Given the description of an element on the screen output the (x, y) to click on. 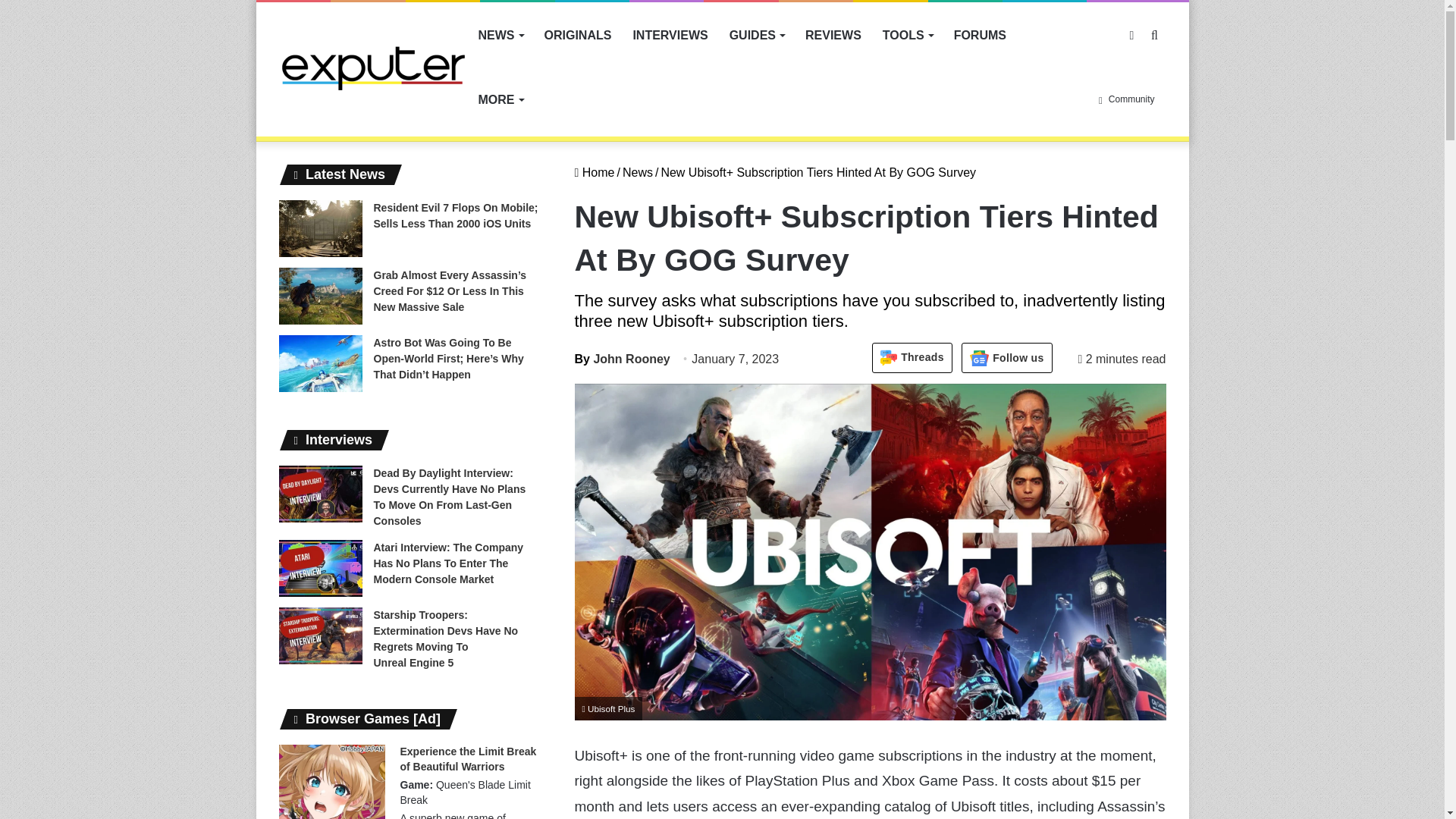
FORUMS (979, 35)
INTERVIEWS (669, 35)
GUIDES (756, 35)
ORIGINALS (578, 35)
NEWS (499, 35)
REVIEWS (833, 35)
eXputer.com (373, 66)
MORE (499, 99)
Switch skin (1131, 35)
TOOLS (907, 35)
John Rooney (622, 358)
